Given the description of an element on the screen output the (x, y) to click on. 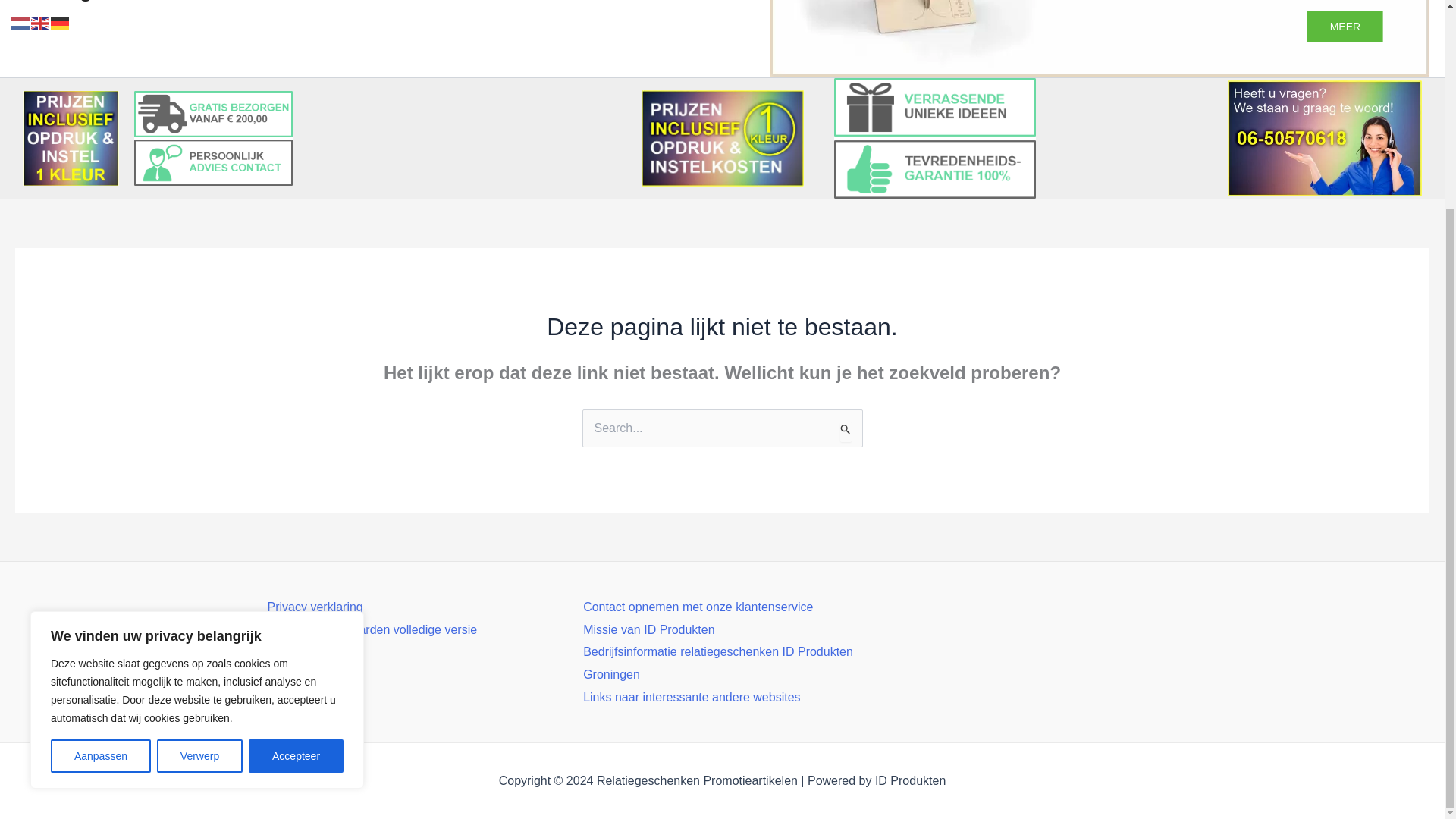
Contact opnemen met onze klantenservice (697, 606)
Privacy verklaring (314, 607)
Accepteer (295, 486)
Zoeken (844, 430)
Missie van ID Produkten (648, 629)
Zoeken (844, 430)
Leveringsvoorwaarden volledige versie (371, 630)
Aanpassen (100, 486)
MEER (1345, 26)
Zoeken (844, 430)
Verwerp (200, 486)
